Given the description of an element on the screen output the (x, y) to click on. 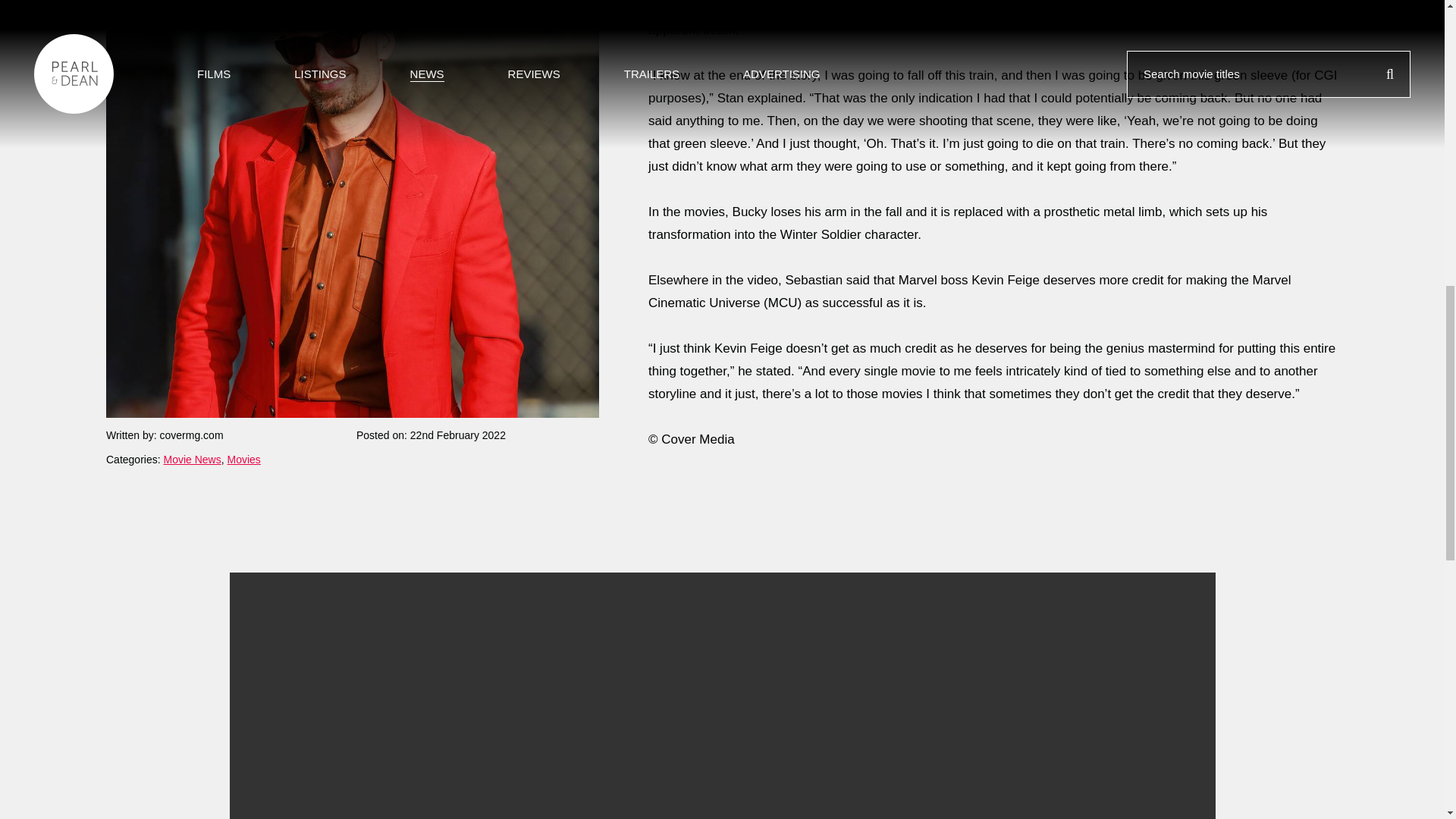
Movie News (192, 326)
Movies (243, 326)
